Given the description of an element on the screen output the (x, y) to click on. 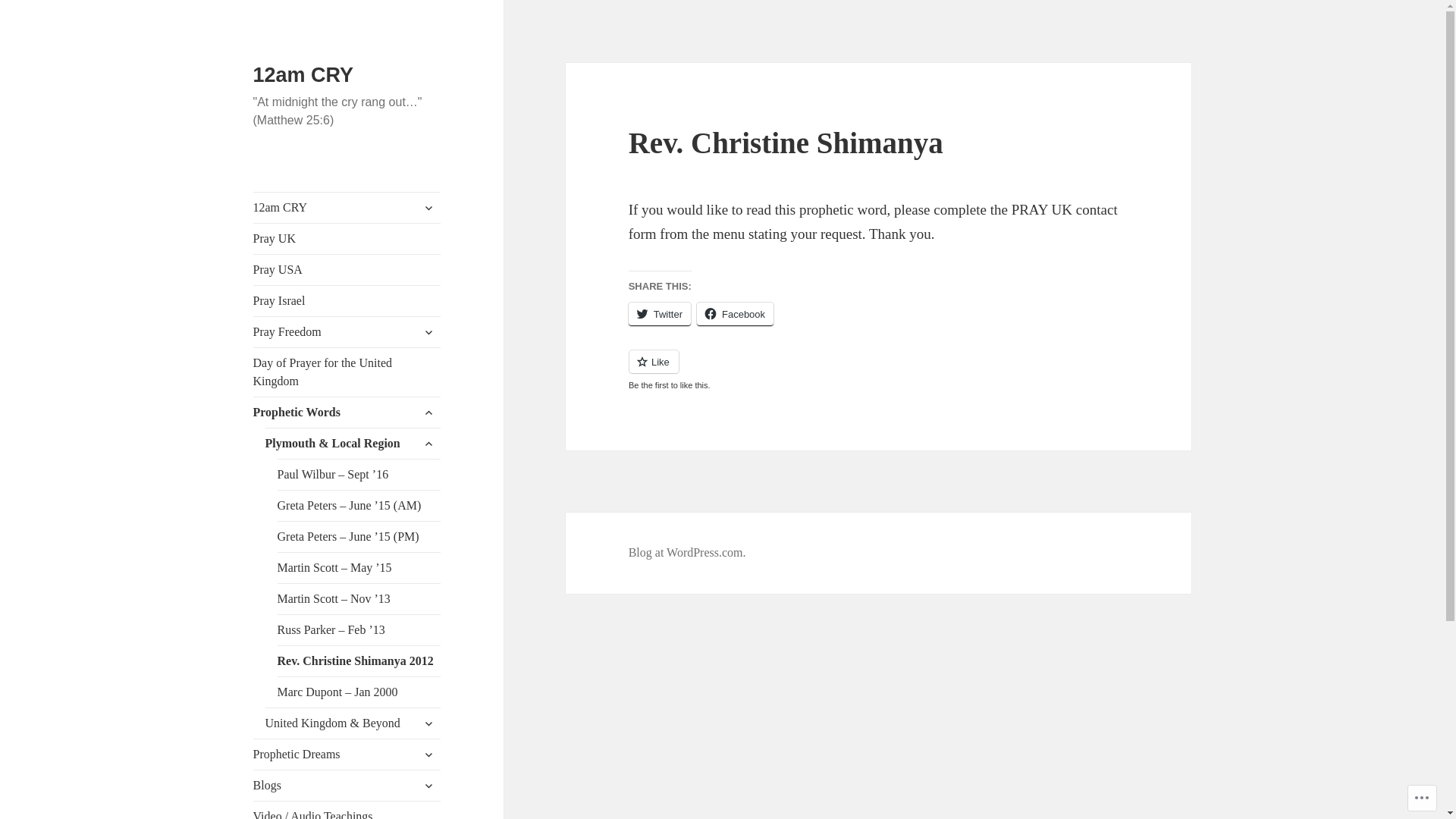
Pray Freedom Element type: text (347, 331)
Blogs Element type: text (347, 785)
Like or Reblog Element type: hover (878, 370)
Pray USA Element type: text (347, 269)
Blog at WordPress.com. Element type: text (687, 552)
Twitter Element type: text (659, 314)
Pray Israel Element type: text (347, 300)
Day of Prayer for the United Kingdom Element type: text (347, 372)
Facebook Element type: text (734, 314)
Pray UK Element type: text (347, 238)
Prophetic Dreams Element type: text (347, 754)
Plymouth & Local Region Element type: text (353, 443)
Rev. Christine Shimanya 2012 Element type: text (359, 661)
12am CRY Element type: text (303, 74)
12am CRY Element type: text (347, 207)
United Kingdom & Beyond Element type: text (353, 723)
Prophetic Words Element type: text (347, 412)
